Given the description of an element on the screen output the (x, y) to click on. 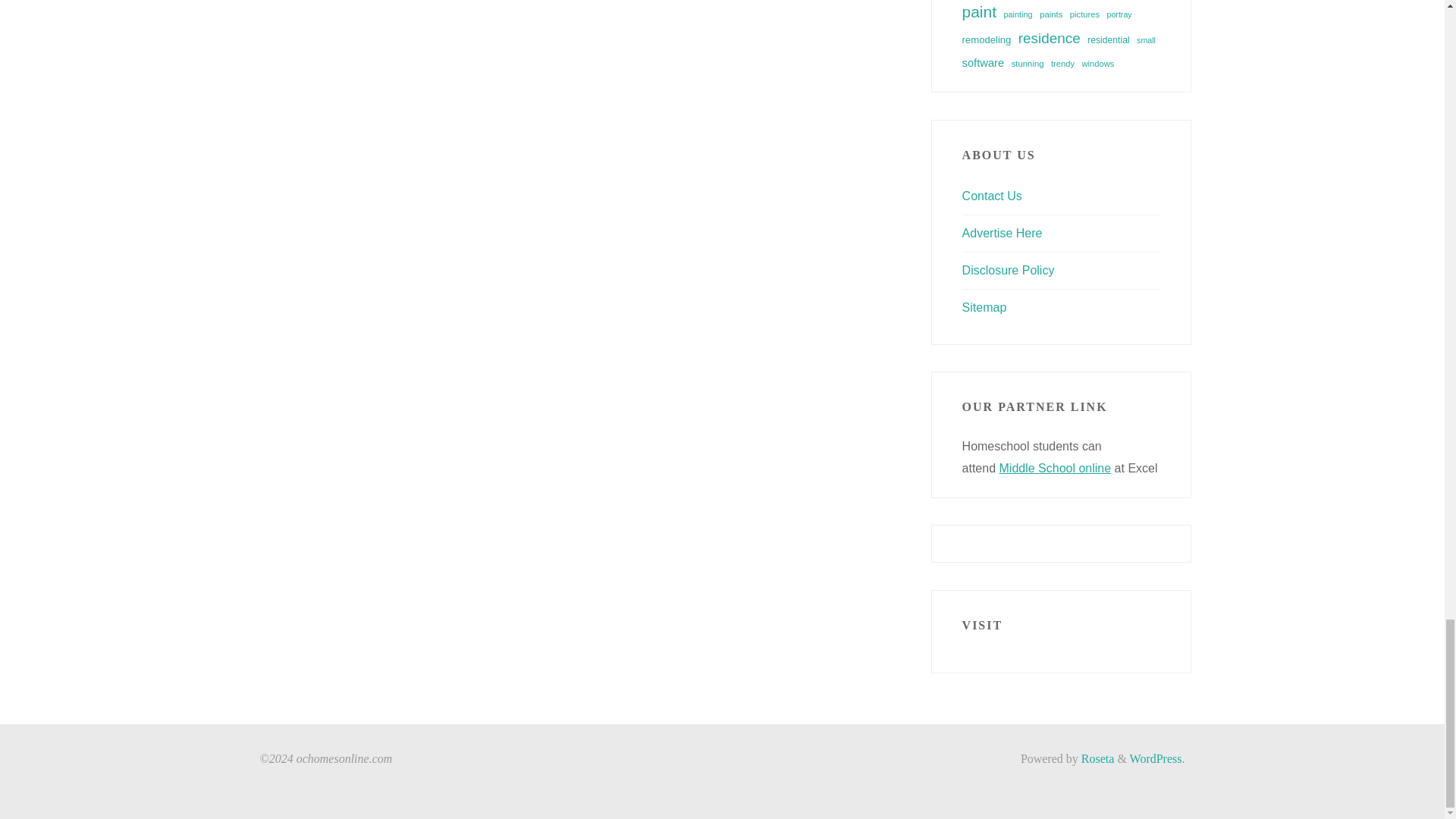
Roseta WordPress Theme by Cryout Creations (1096, 758)
Semantic Personal Publishing Platform (1155, 758)
